Given the description of an element on the screen output the (x, y) to click on. 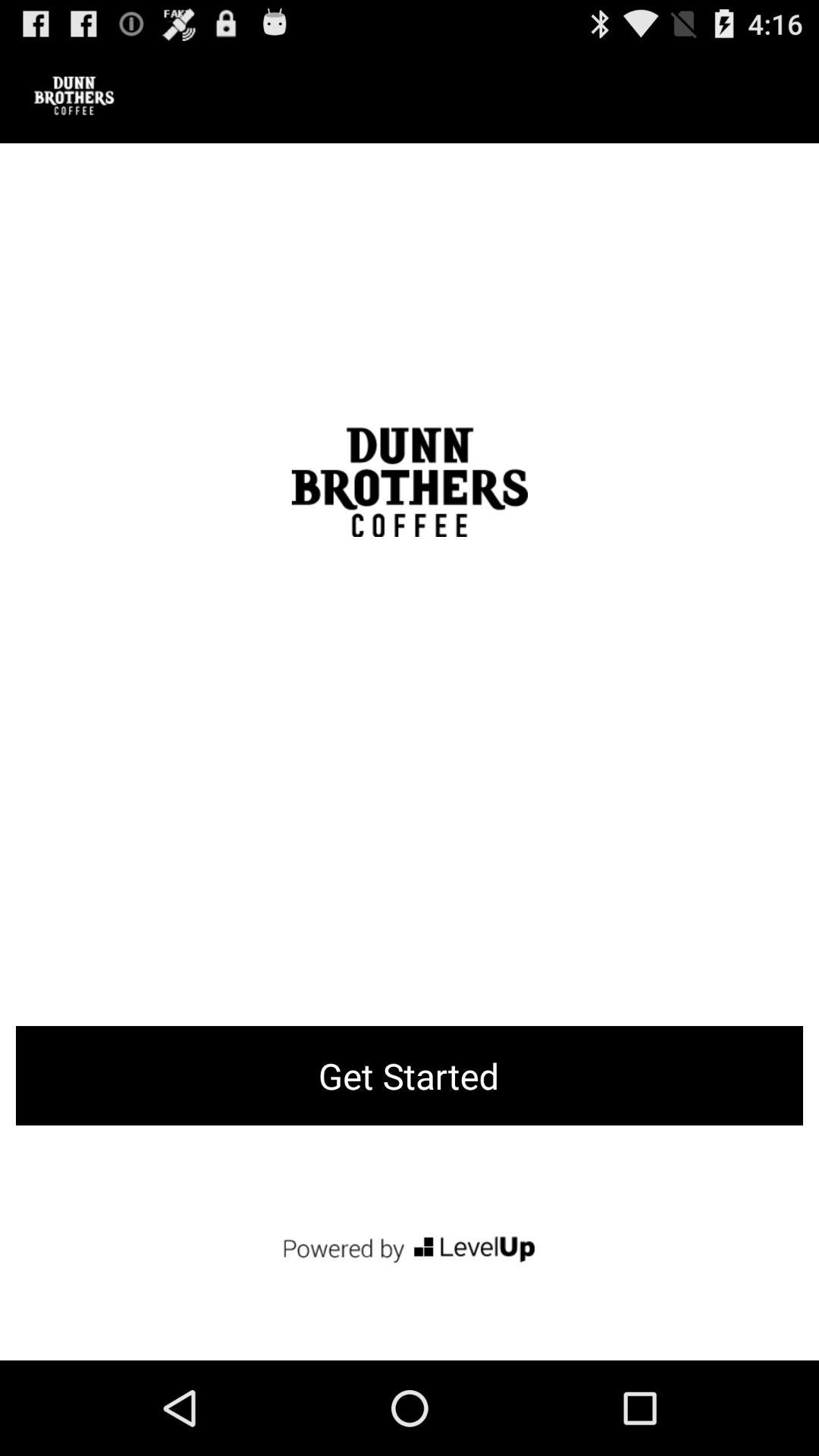
choose the get started (409, 1075)
